Given the description of an element on the screen output the (x, y) to click on. 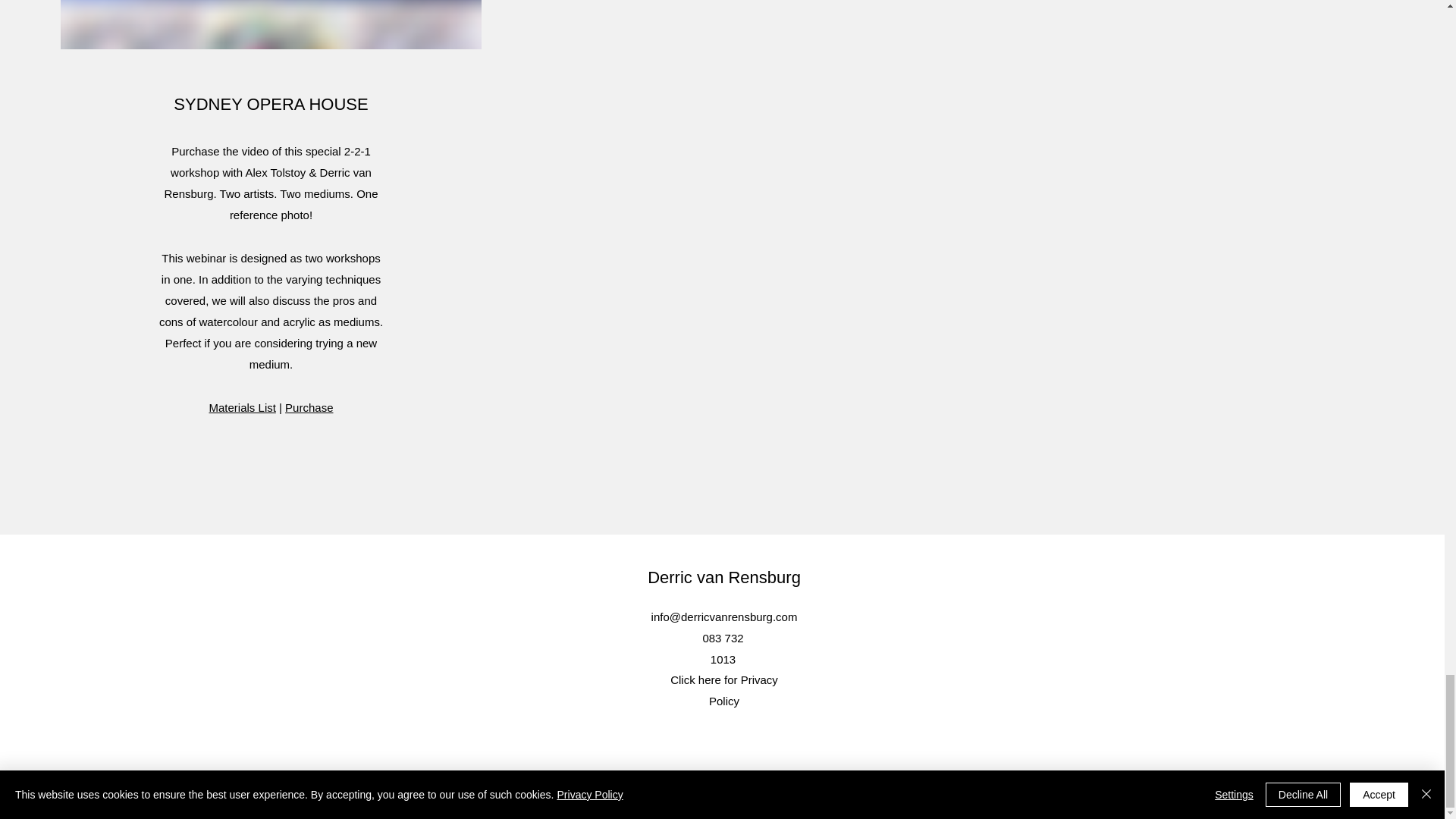
Purchase (309, 407)
Click here for Privacy Policy (723, 690)
Derric van Rensburg (723, 577)
Materials List (242, 407)
